Given the description of an element on the screen output the (x, y) to click on. 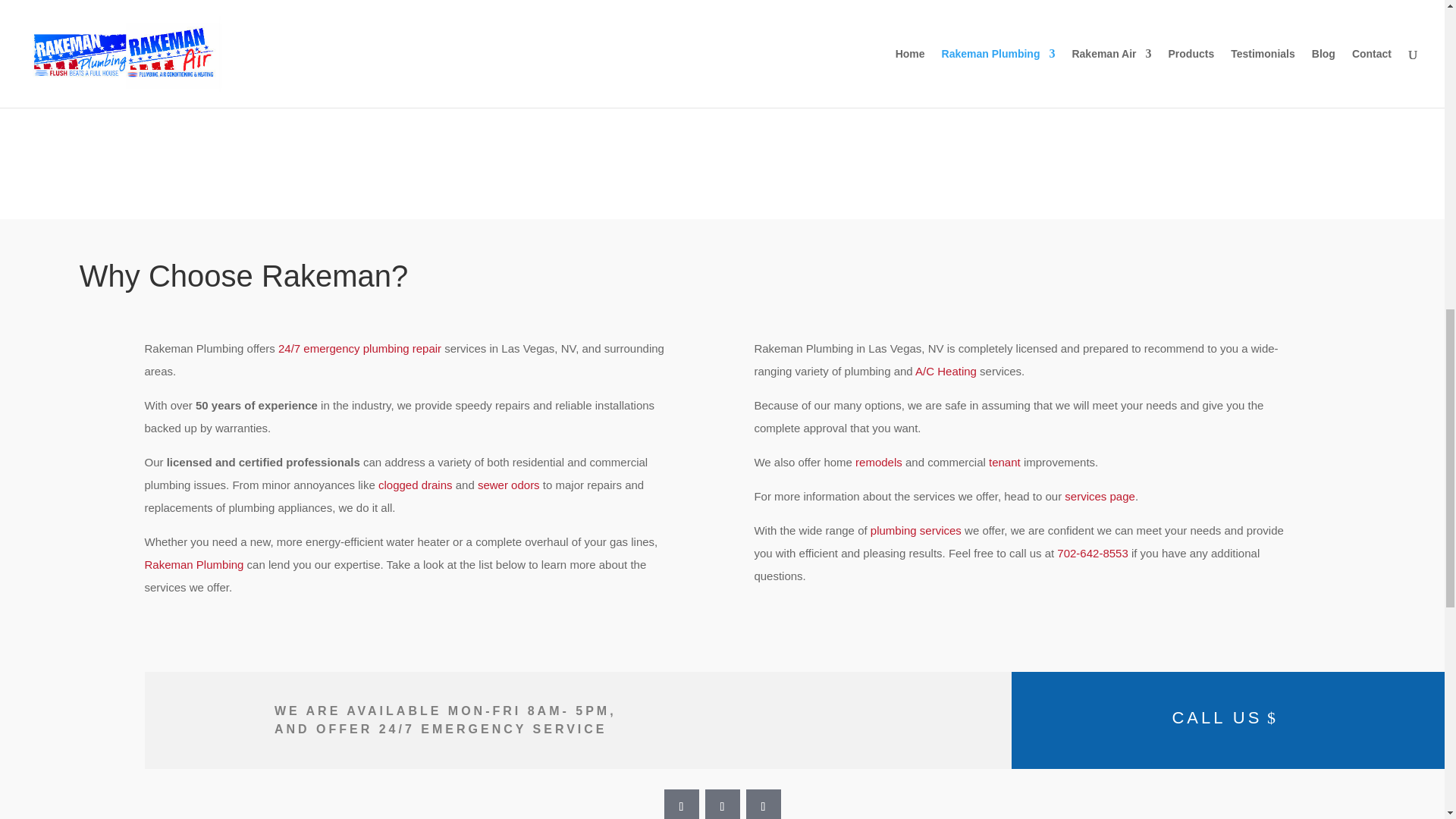
Follow on Instagram (721, 804)
Follow on Facebook (680, 804)
Follow on Youtube (762, 804)
